Given the description of an element on the screen output the (x, y) to click on. 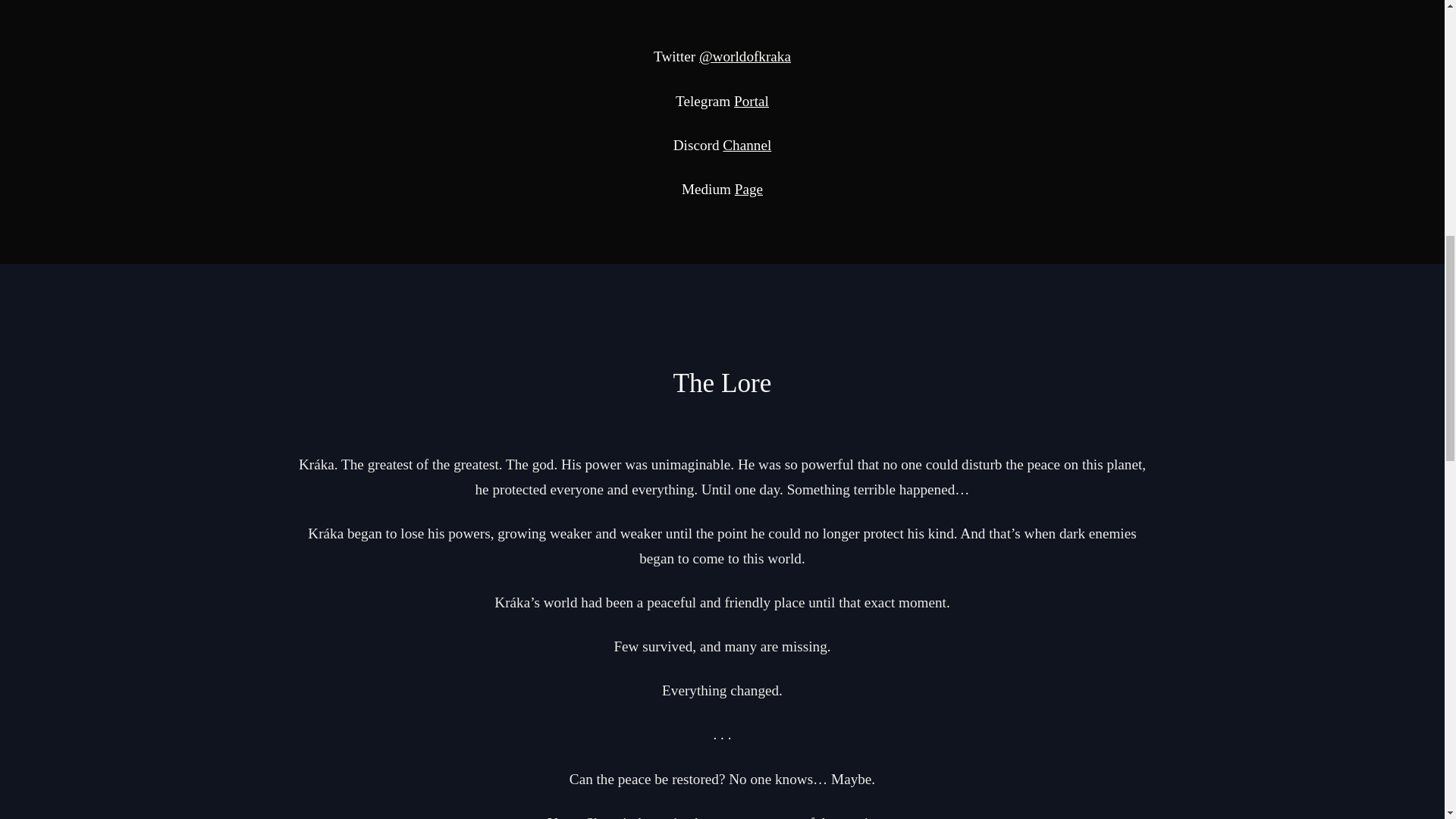
Page (748, 188)
Channel (746, 145)
Portal (750, 100)
